Given the description of an element on the screen output the (x, y) to click on. 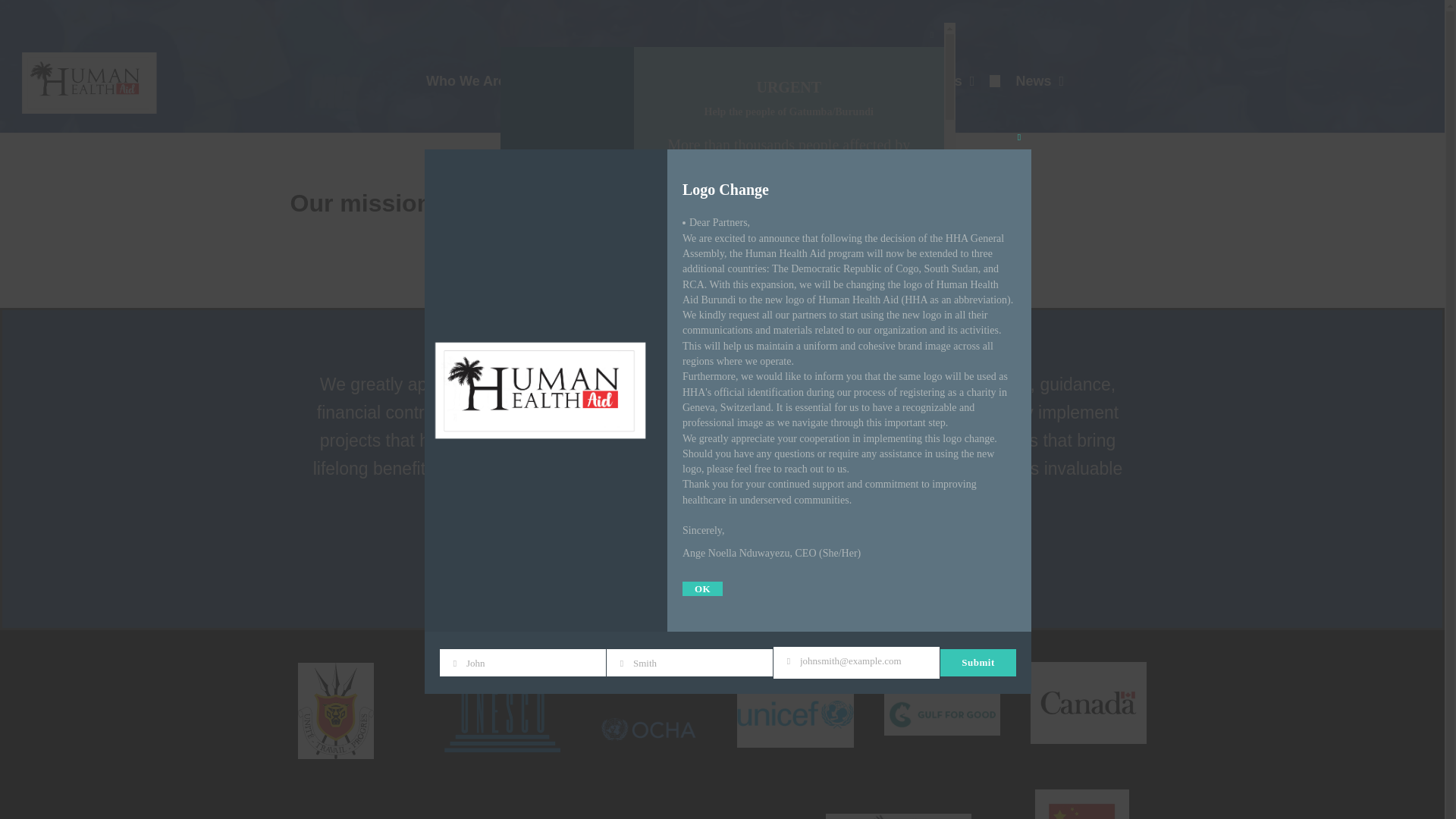
Submit (687, 430)
What We Do (598, 80)
Submit (978, 662)
OK (702, 588)
Policy and Publications (755, 80)
Who We Are (472, 80)
News (1039, 80)
Work With Us (924, 80)
Close this module (931, 34)
Close this module (1018, 137)
